Given the description of an element on the screen output the (x, y) to click on. 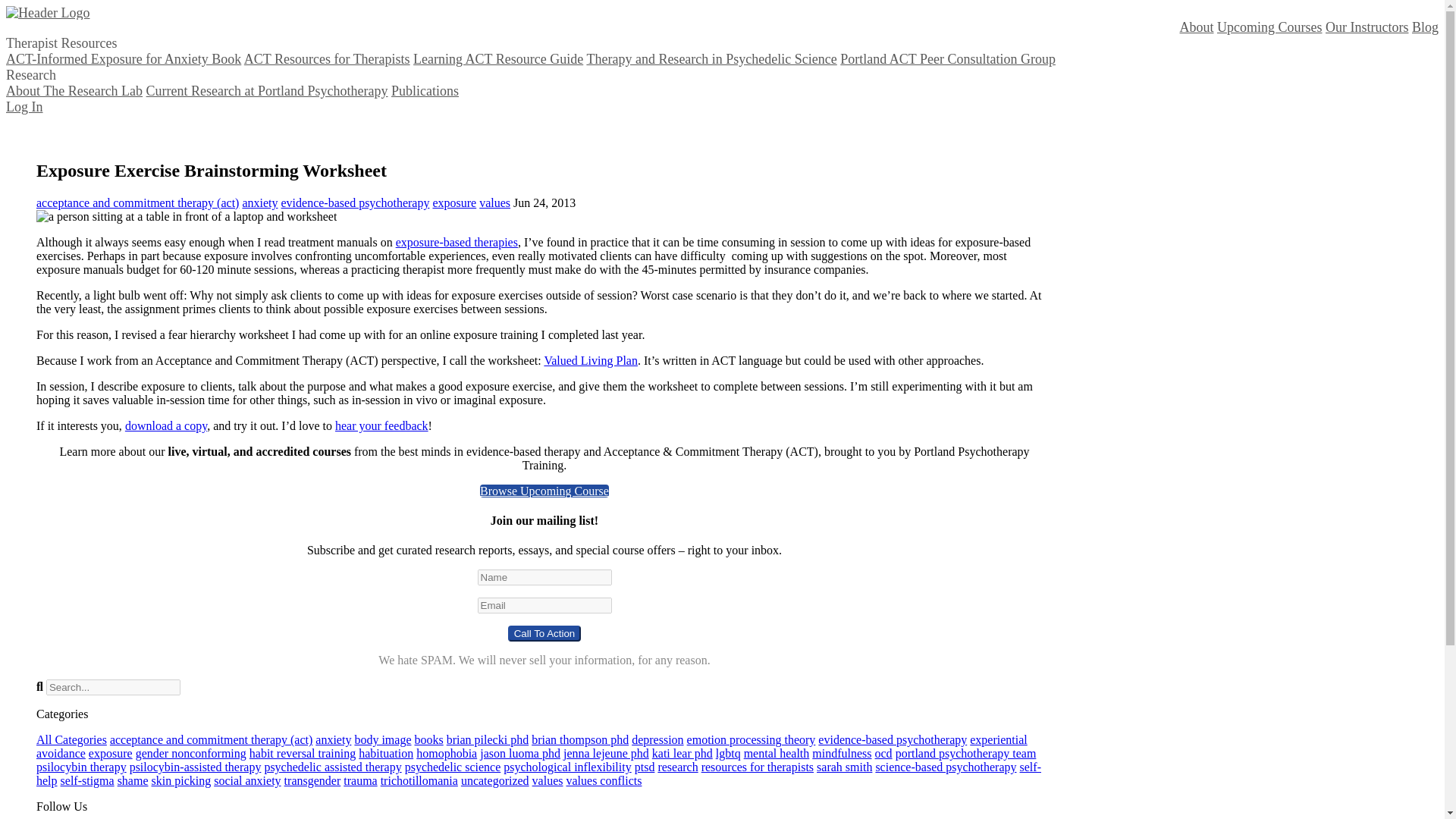
Therapy and Research in Psychedelic Science (710, 58)
exposure (110, 753)
anxiety (259, 202)
Learning ACT Resource Guide (498, 58)
About The Research Lab (73, 90)
Call To Action (544, 633)
Our Instructors (1365, 27)
Valued Living Plan (590, 359)
Browse Upcoming Course (544, 490)
exposure (454, 202)
evidence-based psychotherapy (892, 739)
download a copy (165, 425)
hear your feedback (381, 425)
Call To Action (544, 633)
body image (381, 739)
